Given the description of an element on the screen output the (x, y) to click on. 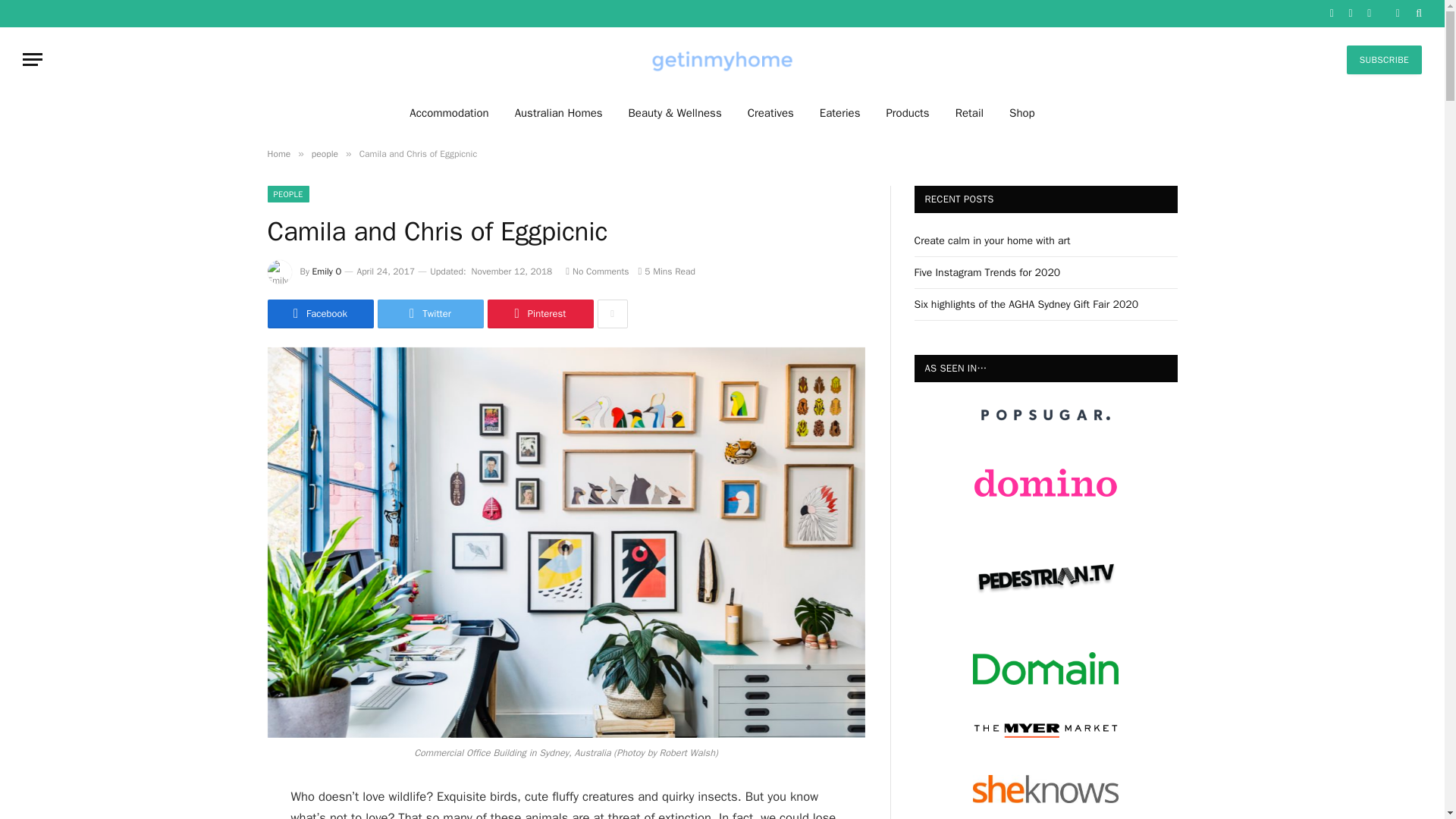
Australian Homes (558, 112)
Products (907, 112)
Share on Facebook (319, 313)
Retail (968, 112)
people (324, 153)
Posts by Emily O (327, 271)
Get In My Home (721, 59)
Shop (1021, 112)
Facebook (319, 313)
Creatives (770, 112)
Accommodation (448, 112)
Twitter (430, 313)
Switch to Dark Design - easier on eyes. (1397, 13)
No Comments (597, 271)
PEOPLE (287, 193)
